Given the description of an element on the screen output the (x, y) to click on. 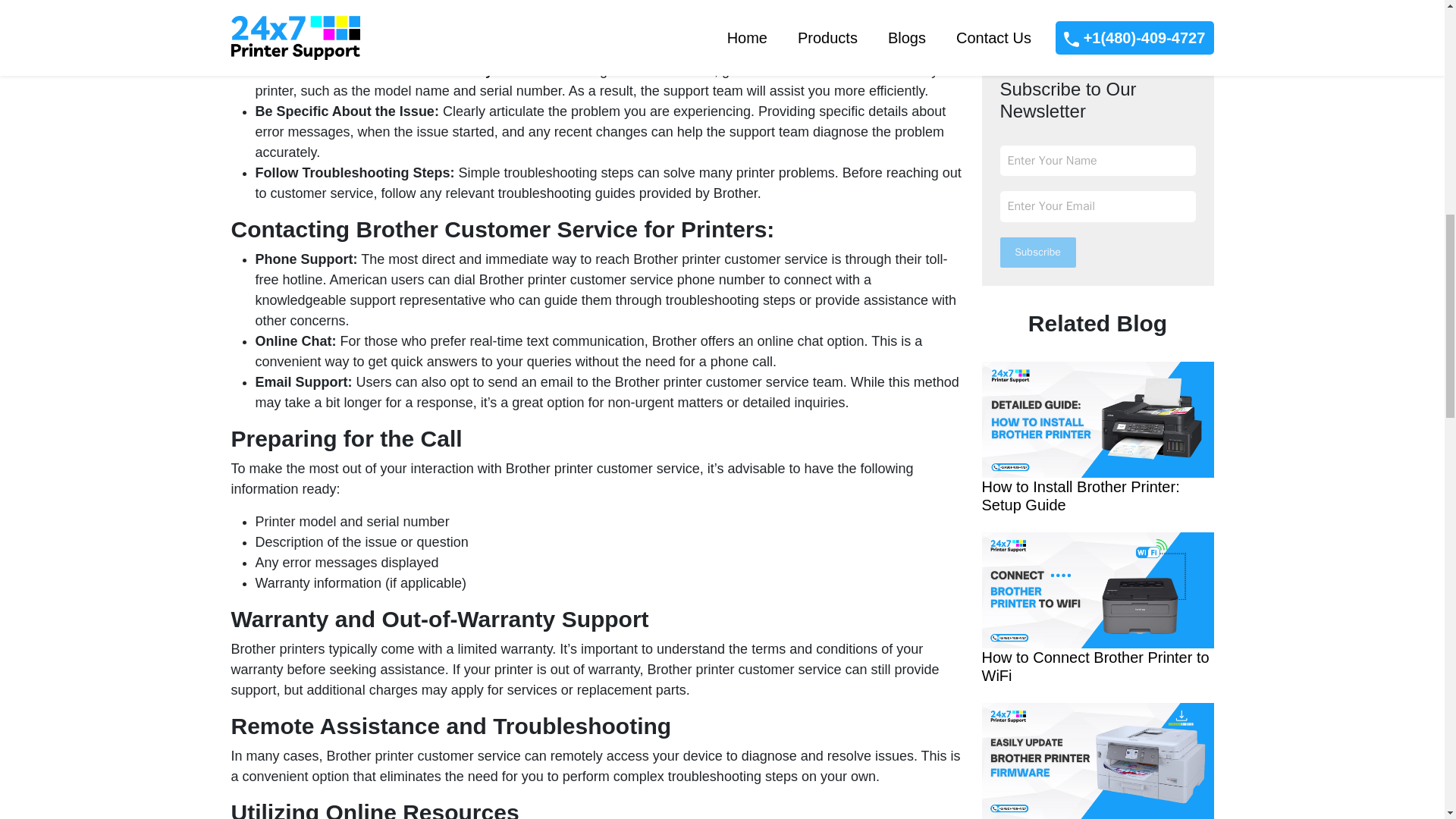
How do I Update My Brother Printer Firmware (1096, 69)
